Given the description of an element on the screen output the (x, y) to click on. 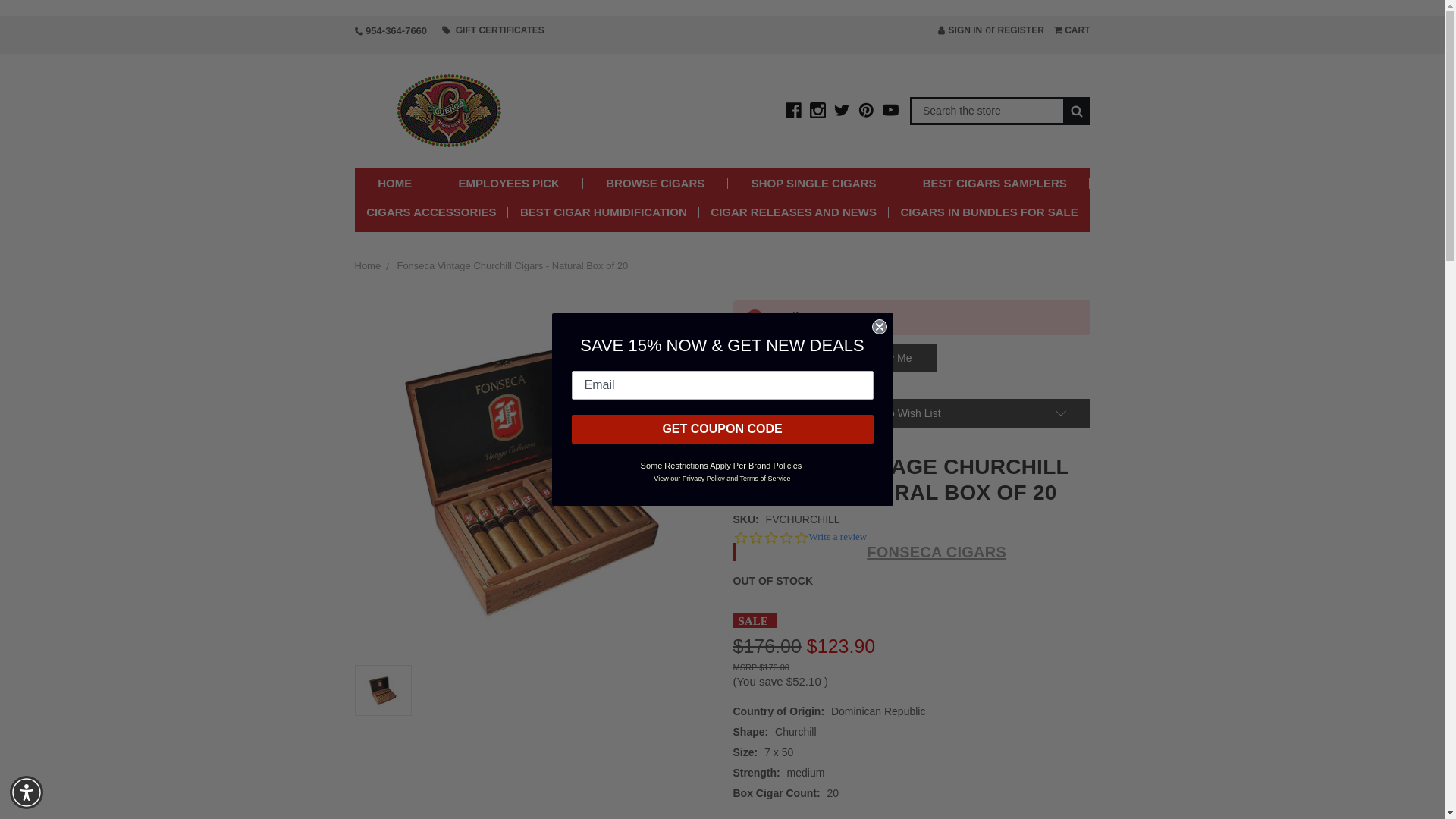
Accessibility Menu (26, 792)
REGISTER (1020, 30)
CART (1071, 30)
SIGN IN (960, 30)
CIGAR RELEASES AND NEWS (793, 212)
Home (368, 265)
  GIFT CERTIFICATES (492, 30)
JUST IN (923, 240)
CIGARS BY BRANDS (556, 240)
EMPLOYEES PICK (509, 183)
SHOP SINGLE CIGARS (813, 183)
HOME (395, 183)
CIGARS IN BUNDLES FOR SALE (989, 212)
Cuenca Cigars, Inc (449, 110)
BEST CIGAR HUMIDIFICATION (603, 212)
